Given the description of an element on the screen output the (x, y) to click on. 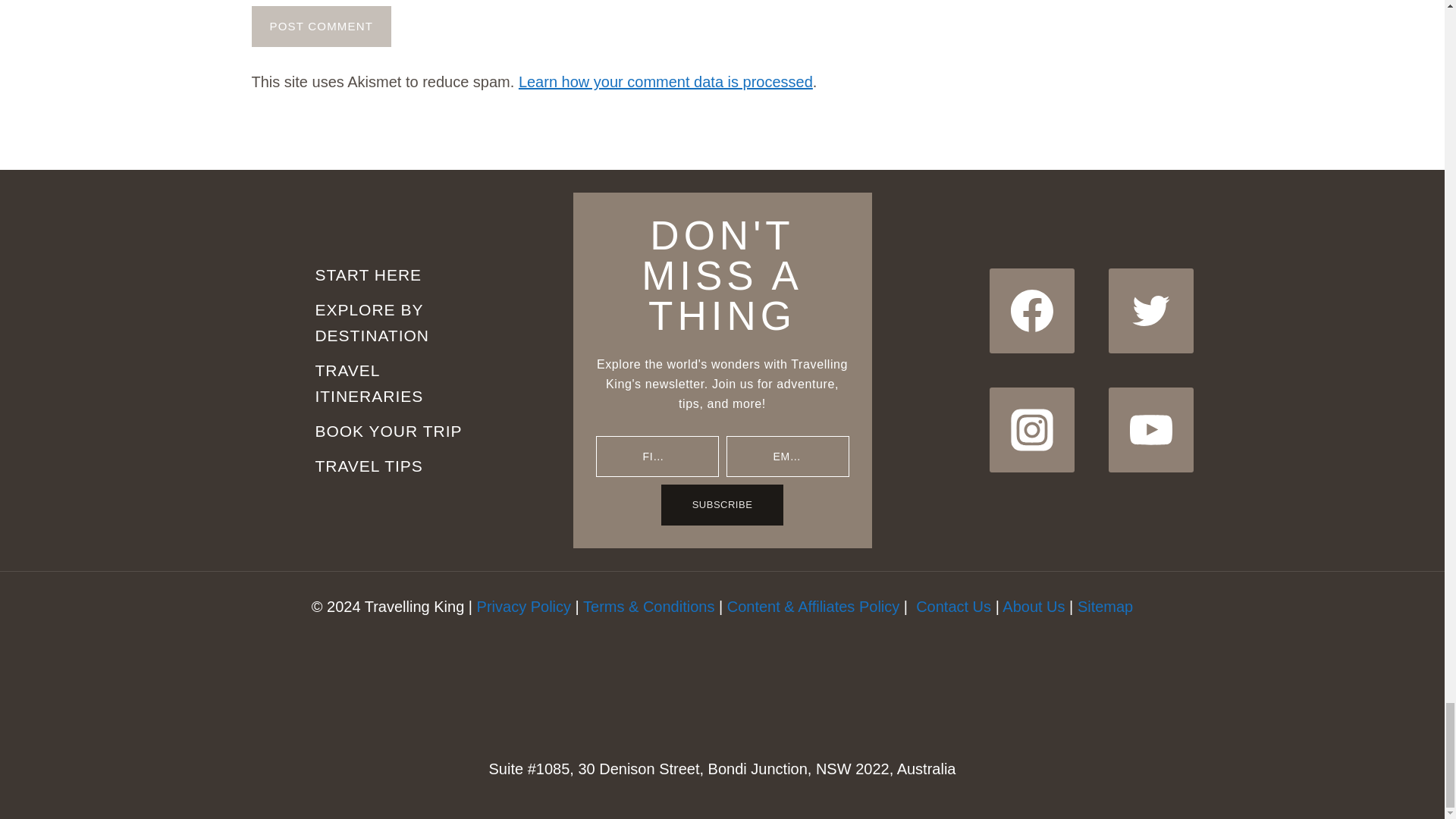
Terms and conditions (648, 606)
Post Comment (321, 25)
